Given the description of an element on the screen output the (x, y) to click on. 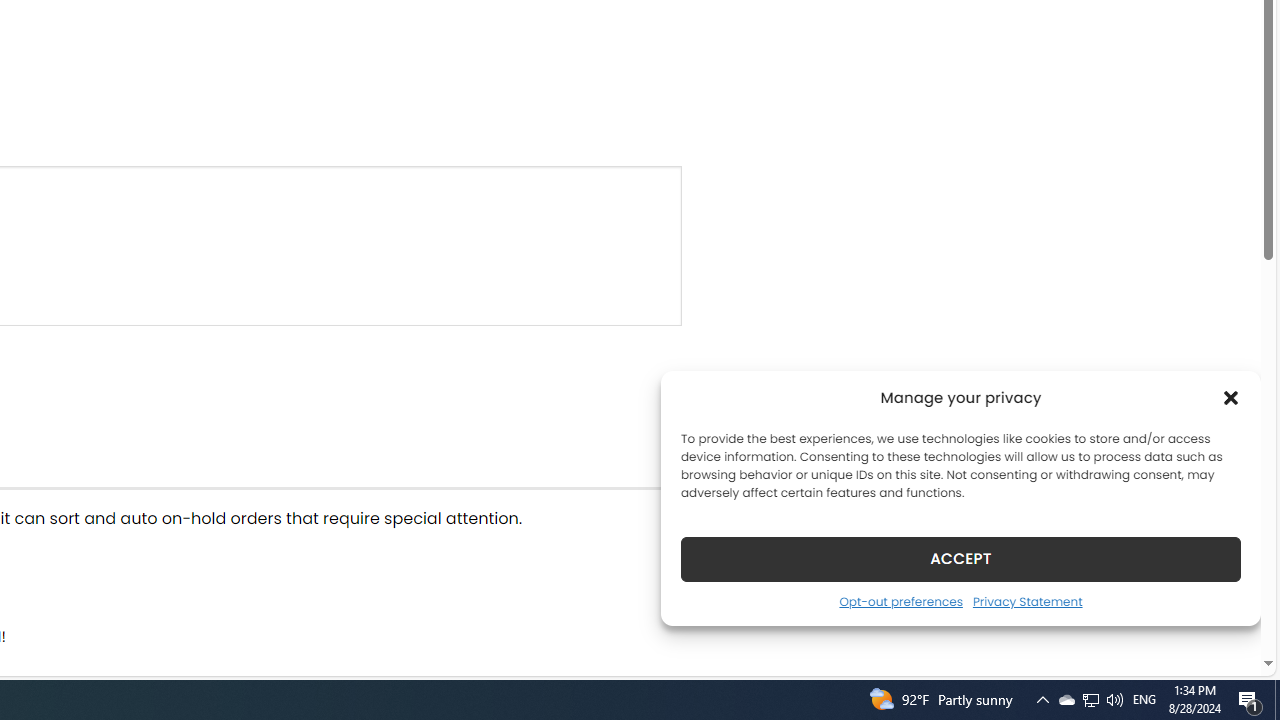
Privacy Statement (1026, 601)
Opt-out preferences (900, 601)
Class: cmplz-close (1231, 397)
ACCEPT (960, 558)
